Given the description of an element on the screen output the (x, y) to click on. 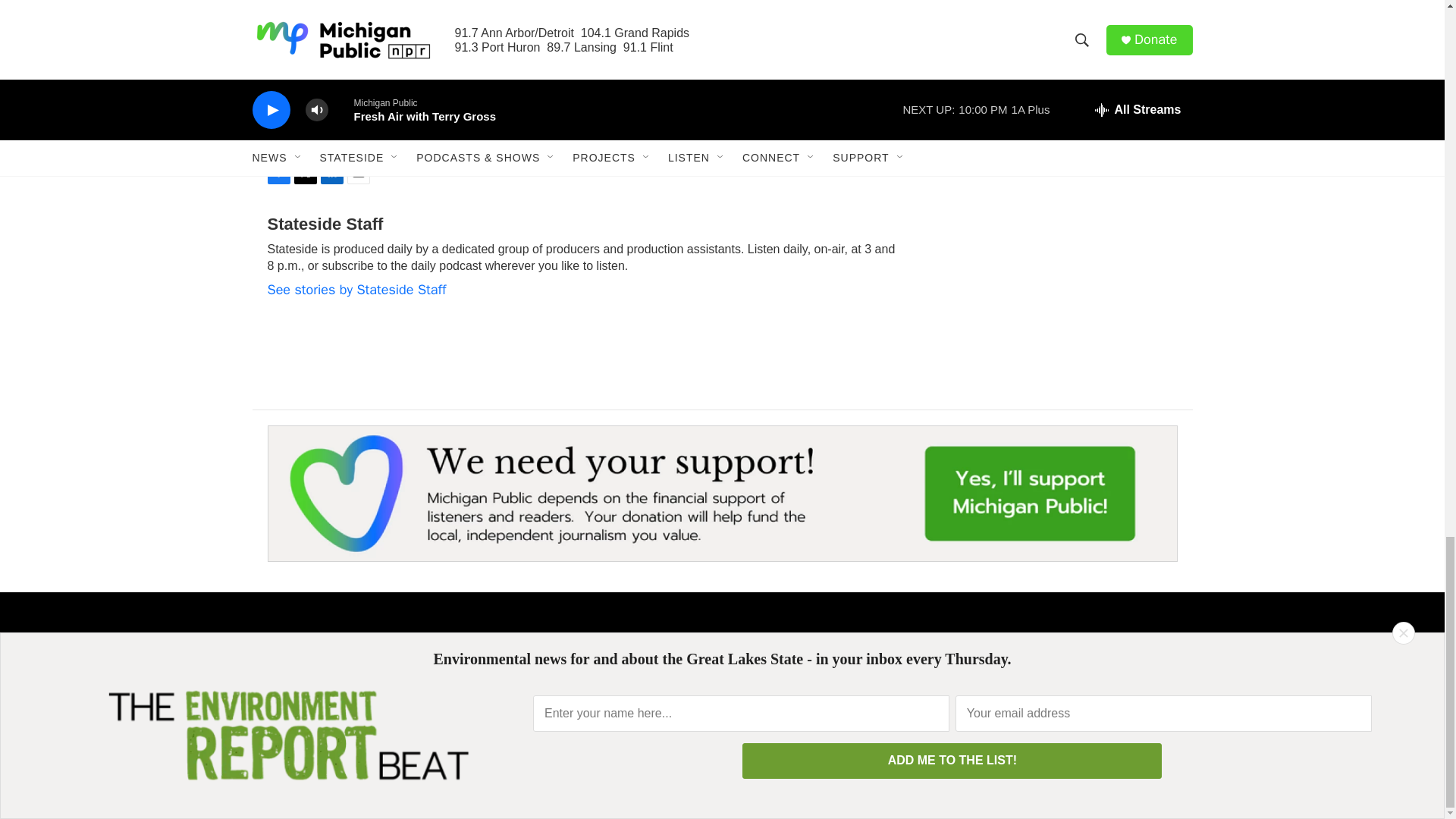
3rd party ad content (1062, 64)
3rd party ad content (1062, 253)
